Given the description of an element on the screen output the (x, y) to click on. 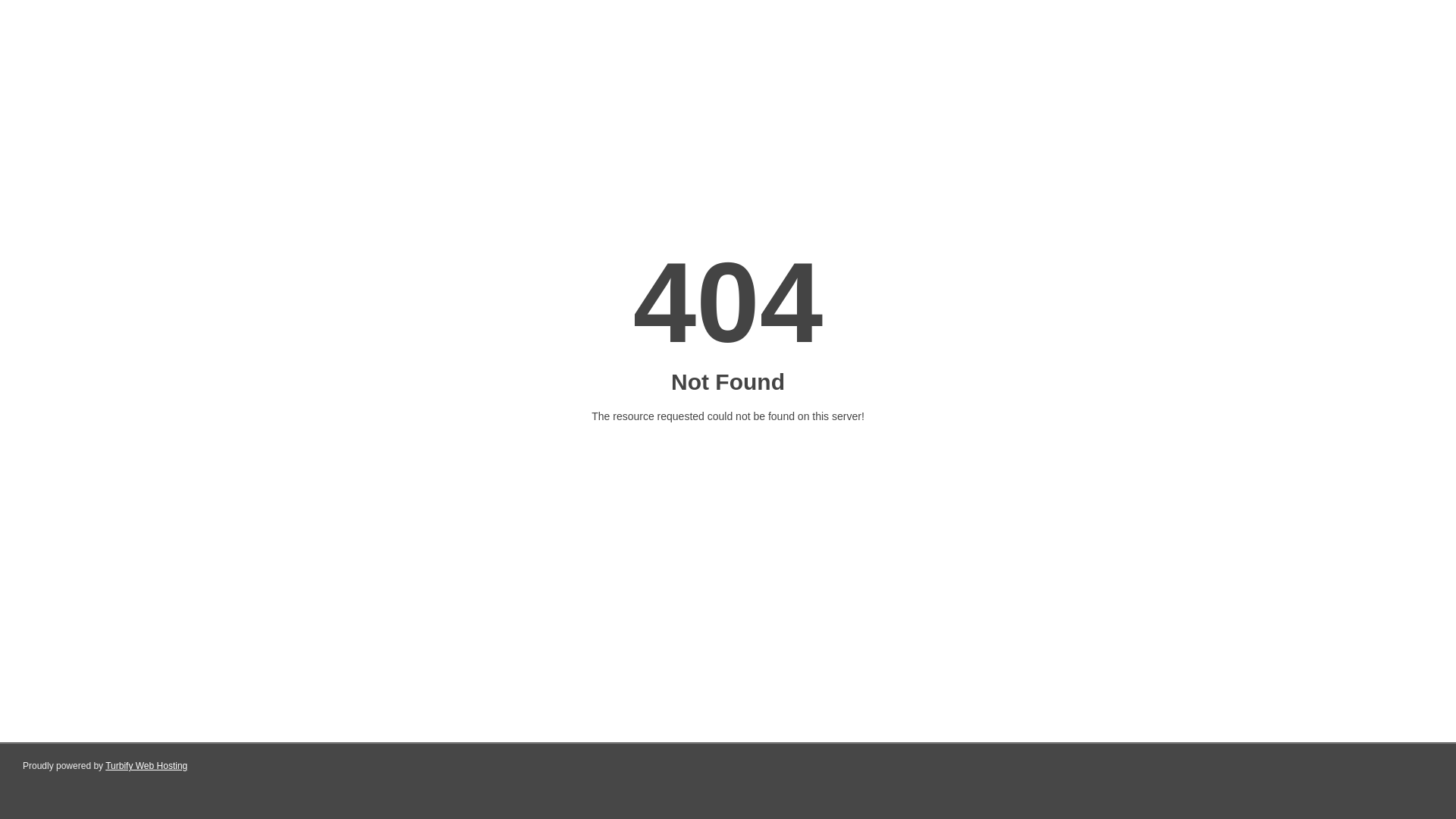
Turbify Web Hosting Element type: text (146, 765)
